Given the description of an element on the screen output the (x, y) to click on. 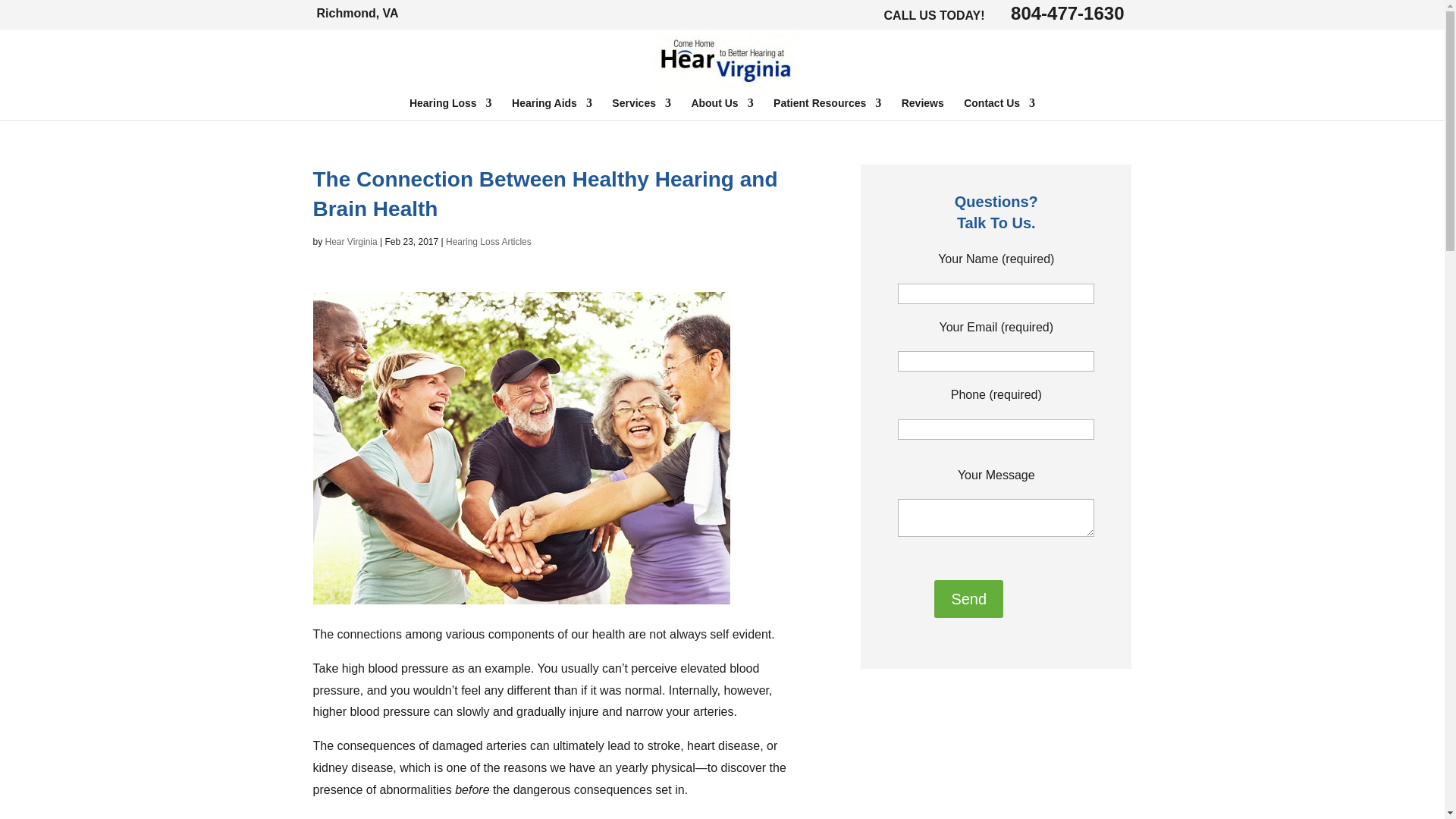
Richmond, VA (357, 12)
Patient Resources (826, 108)
Hearing Aids (552, 108)
Hear Virginia (723, 83)
Contact Us (999, 108)
Reviews (922, 108)
804-477-1630 (1067, 13)
Send (968, 598)
Posts by Hear Virginia (350, 241)
Services (641, 108)
About Us (721, 108)
Hearing Loss (450, 108)
